Given the description of an element on the screen output the (x, y) to click on. 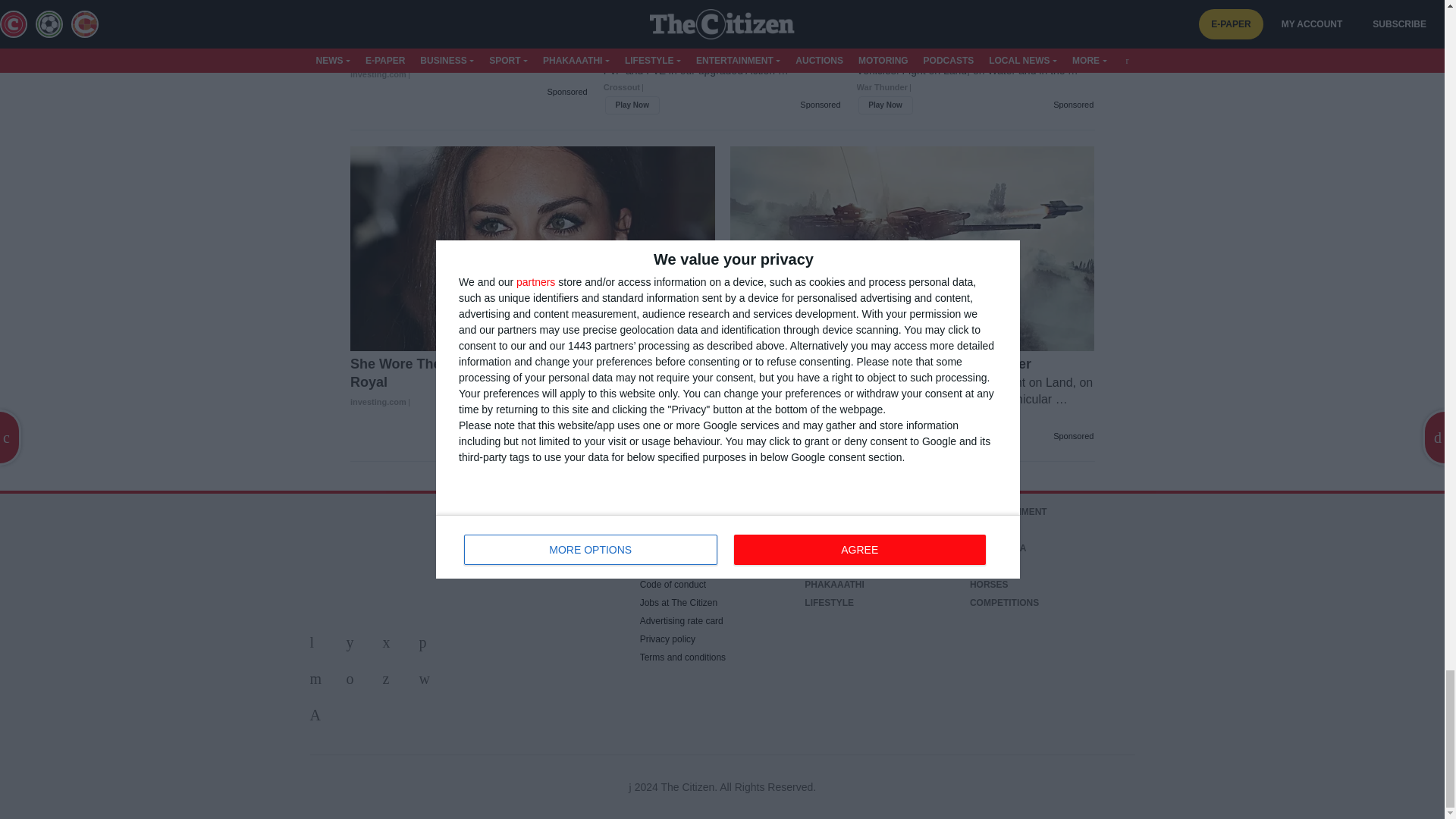
Diabetes Is Not From Sweets: Meet The Enemy (469, 56)
Shooter Action MMO (722, 69)
